Given the description of an element on the screen output the (x, y) to click on. 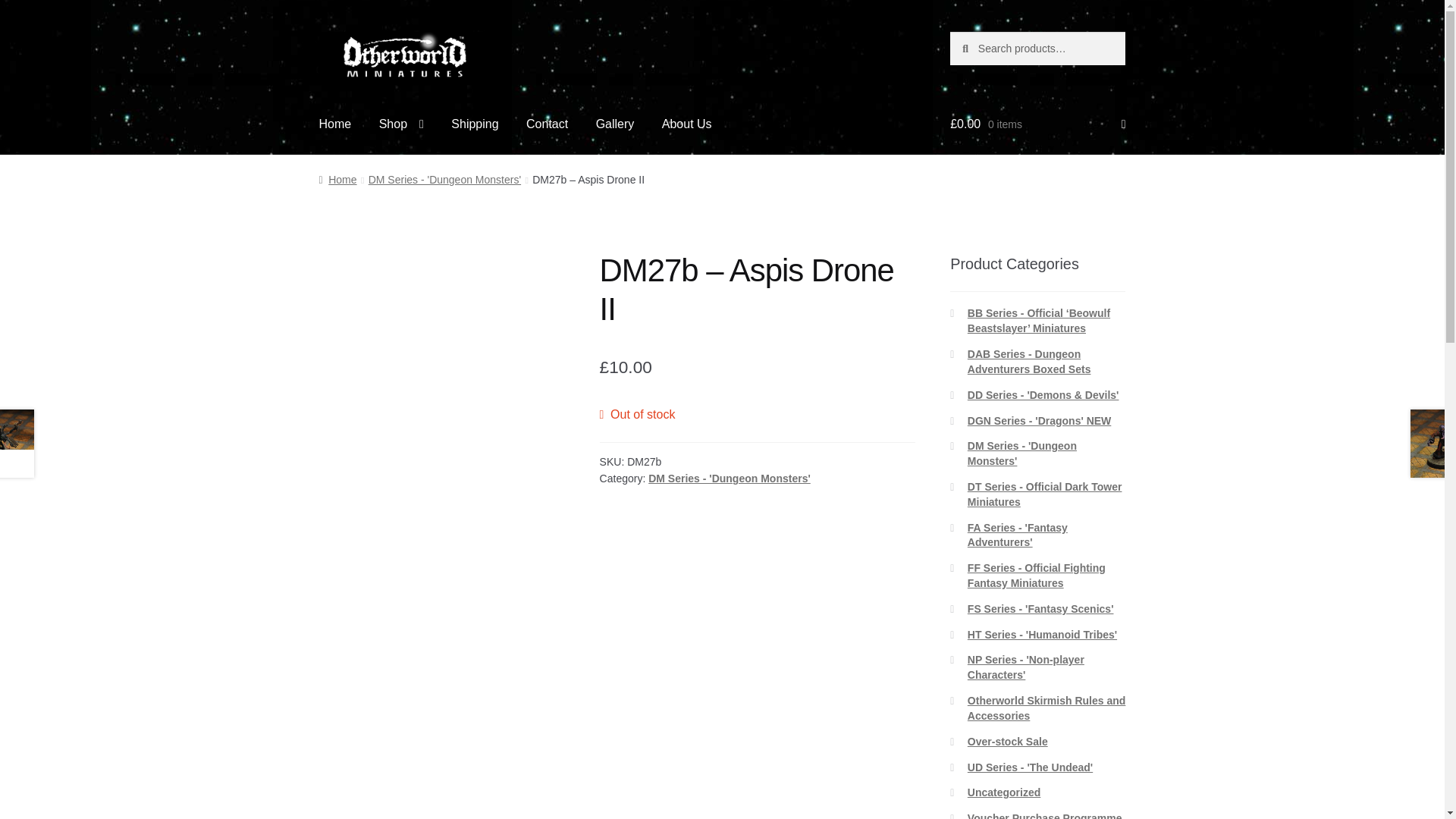
Shop (400, 124)
Home (337, 179)
DM Series - 'Dungeon Monsters' (728, 478)
View your shopping basket (1037, 124)
Shipping (475, 124)
Home (335, 124)
DM Series - 'Dungeon Monsters' (444, 179)
Gallery (614, 124)
Contact (546, 124)
